Given the description of an element on the screen output the (x, y) to click on. 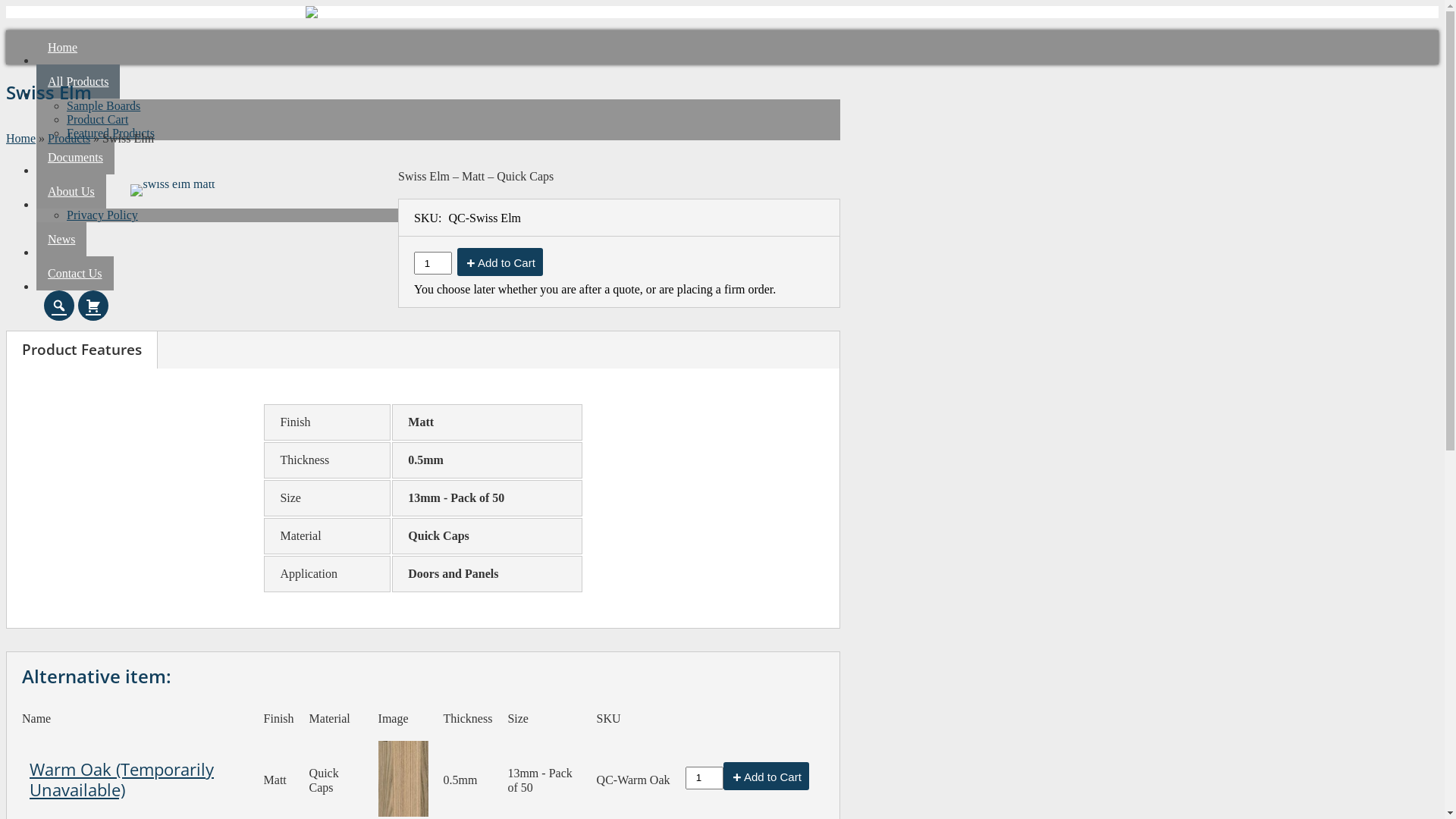
Add to Cart Element type: text (499, 261)
Swiss Elm 3 Element type: hover (403, 778)
Add to Cart Element type: text (766, 776)
Product Features Element type: text (81, 348)
Home Element type: text (20, 137)
Privacy Policy Element type: text (102, 214)
Featured Products Element type: text (110, 132)
Swiss Elm 2 Element type: hover (172, 232)
Product Cart Element type: text (97, 118)
Products Element type: text (68, 137)
Documents Element type: text (75, 157)
Home Element type: text (62, 47)
All Products Element type: text (77, 81)
About Us Element type: text (71, 191)
Sample Boards Element type: text (103, 105)
Contact Us Element type: text (74, 273)
Warm Oak (Temporarily Unavailable) Element type: text (121, 779)
News Element type: text (61, 239)
